Given the description of an element on the screen output the (x, y) to click on. 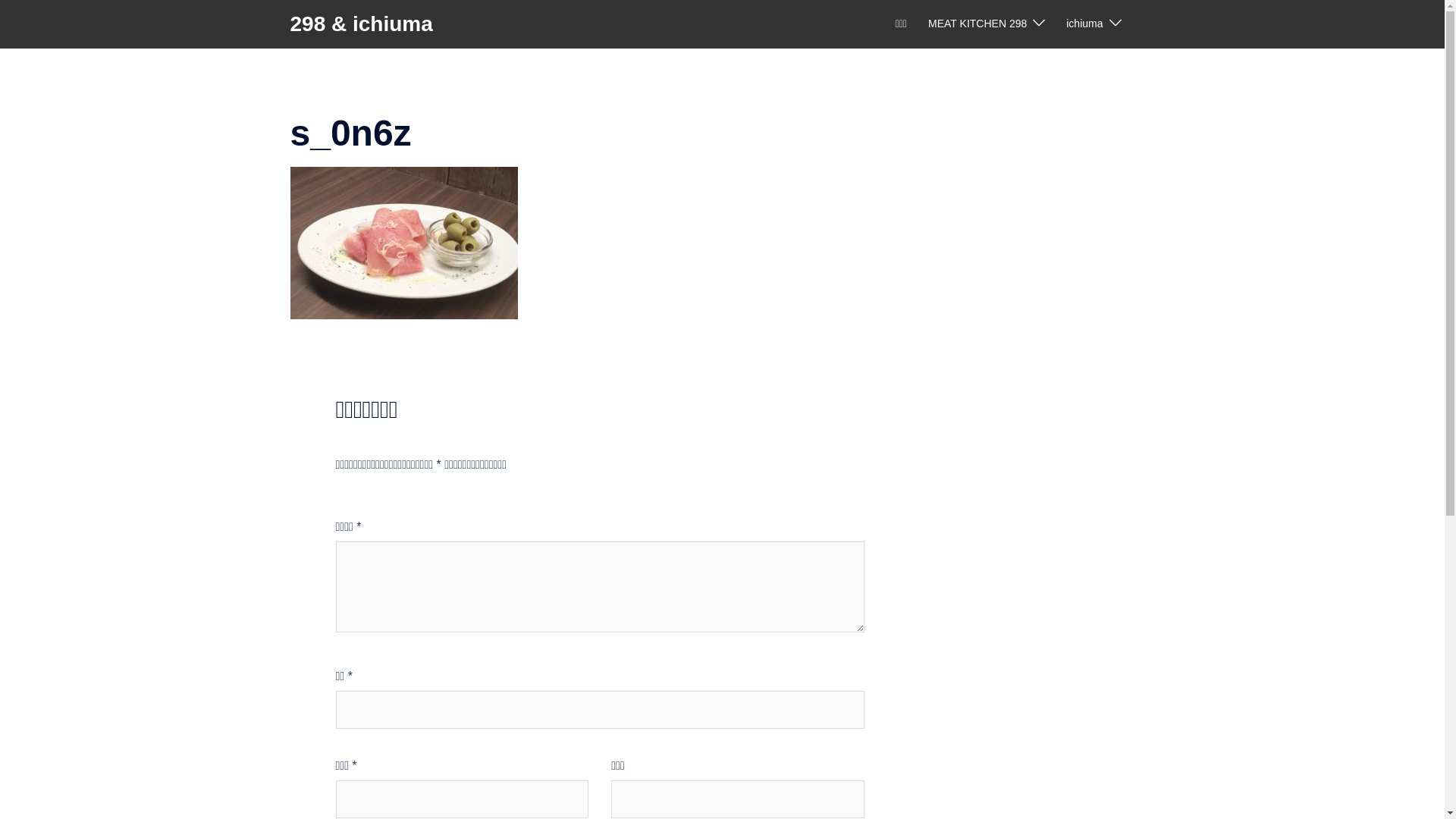
ichiuma Element type: text (1084, 24)
298 & ichiuma Element type: text (360, 23)
MEAT KITCHEN 298 Element type: text (977, 24)
